Given the description of an element on the screen output the (x, y) to click on. 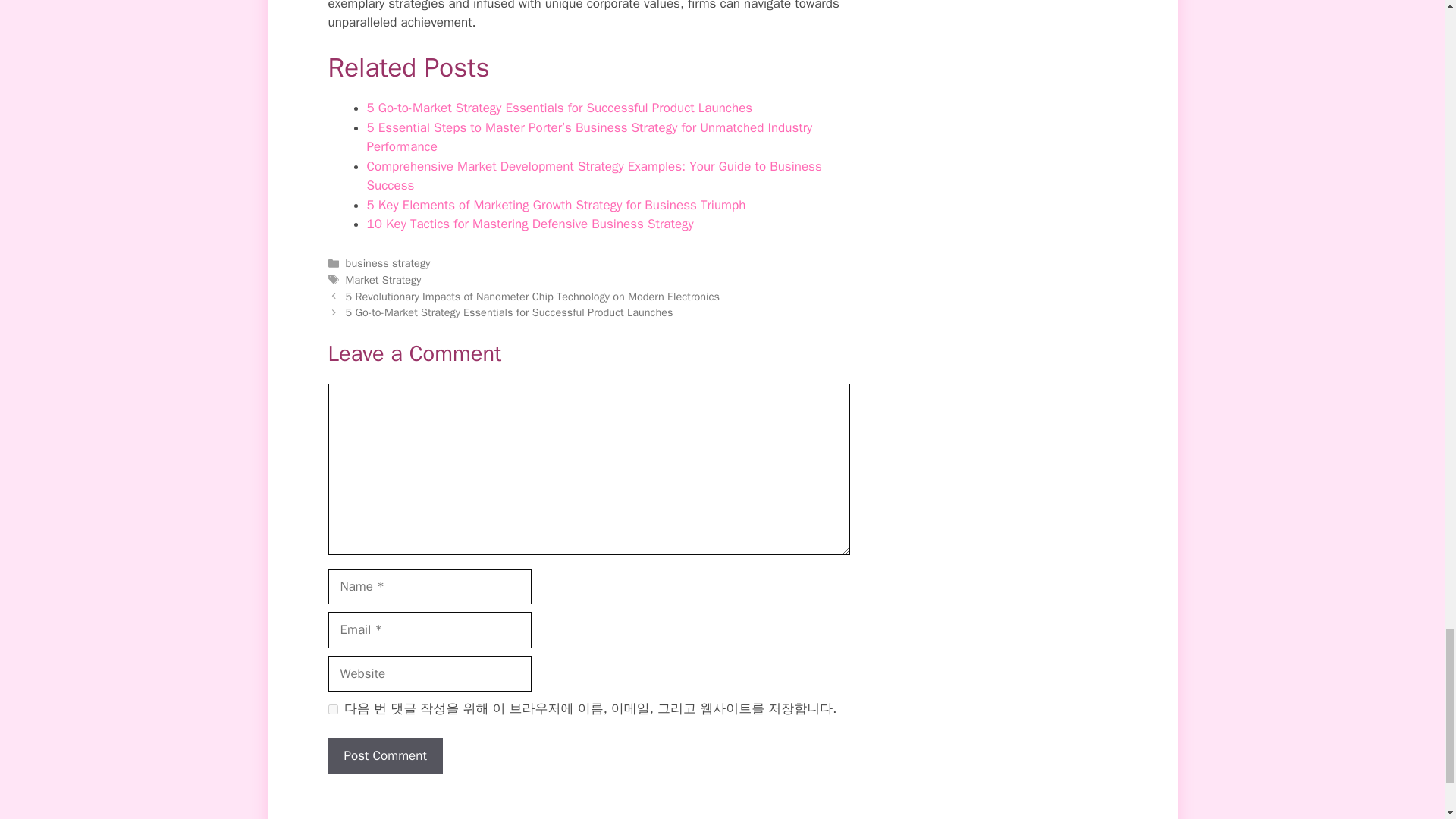
Post Comment (384, 755)
10 Key Tactics for Mastering Defensive Business Strategy (530, 223)
Market Strategy (384, 279)
Post Comment (384, 755)
business strategy (388, 263)
yes (332, 709)
